Given the description of an element on the screen output the (x, y) to click on. 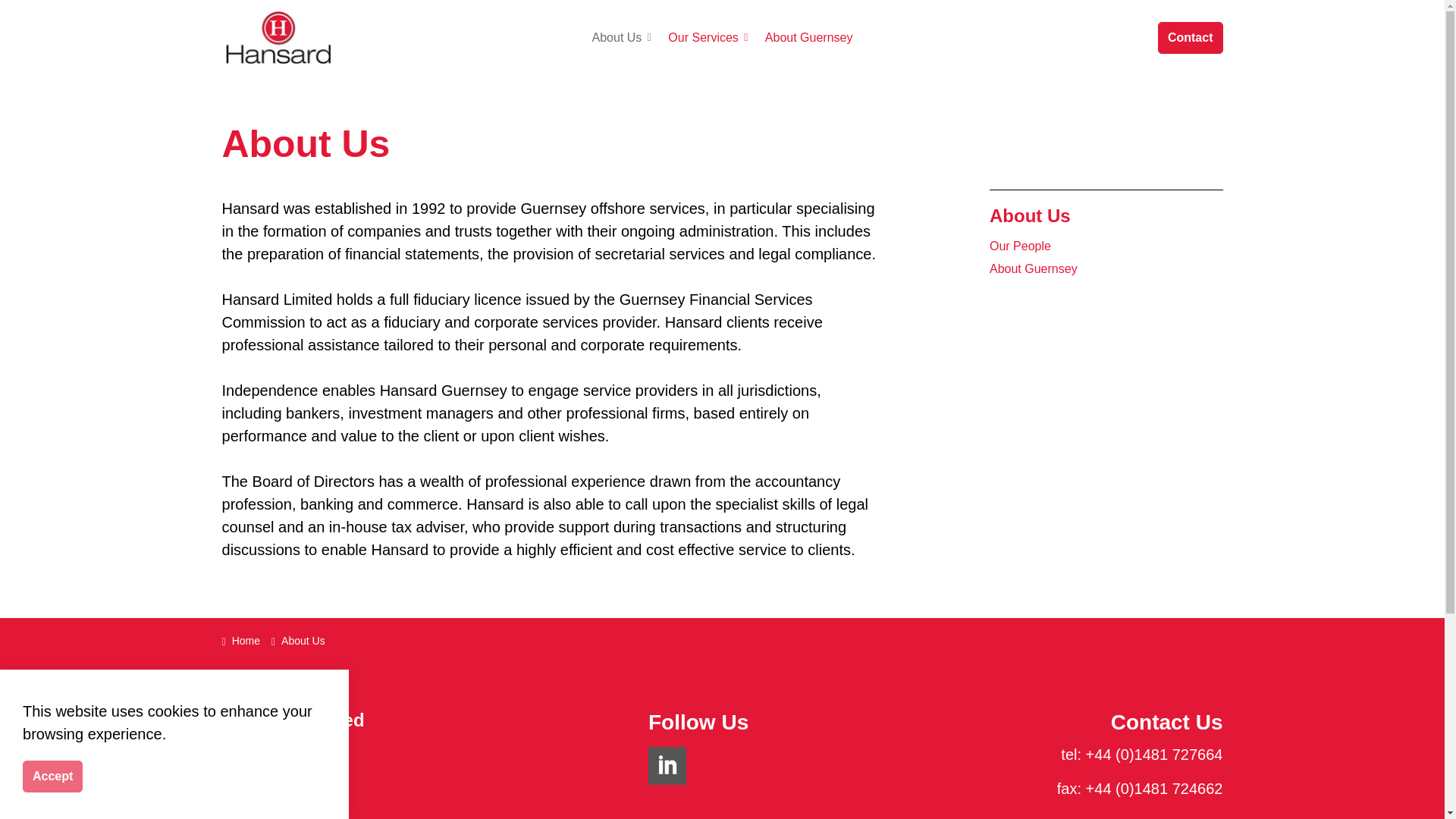
Hansard Limited (277, 37)
Our Services (704, 38)
About Us (619, 38)
